Given the description of an element on the screen output the (x, y) to click on. 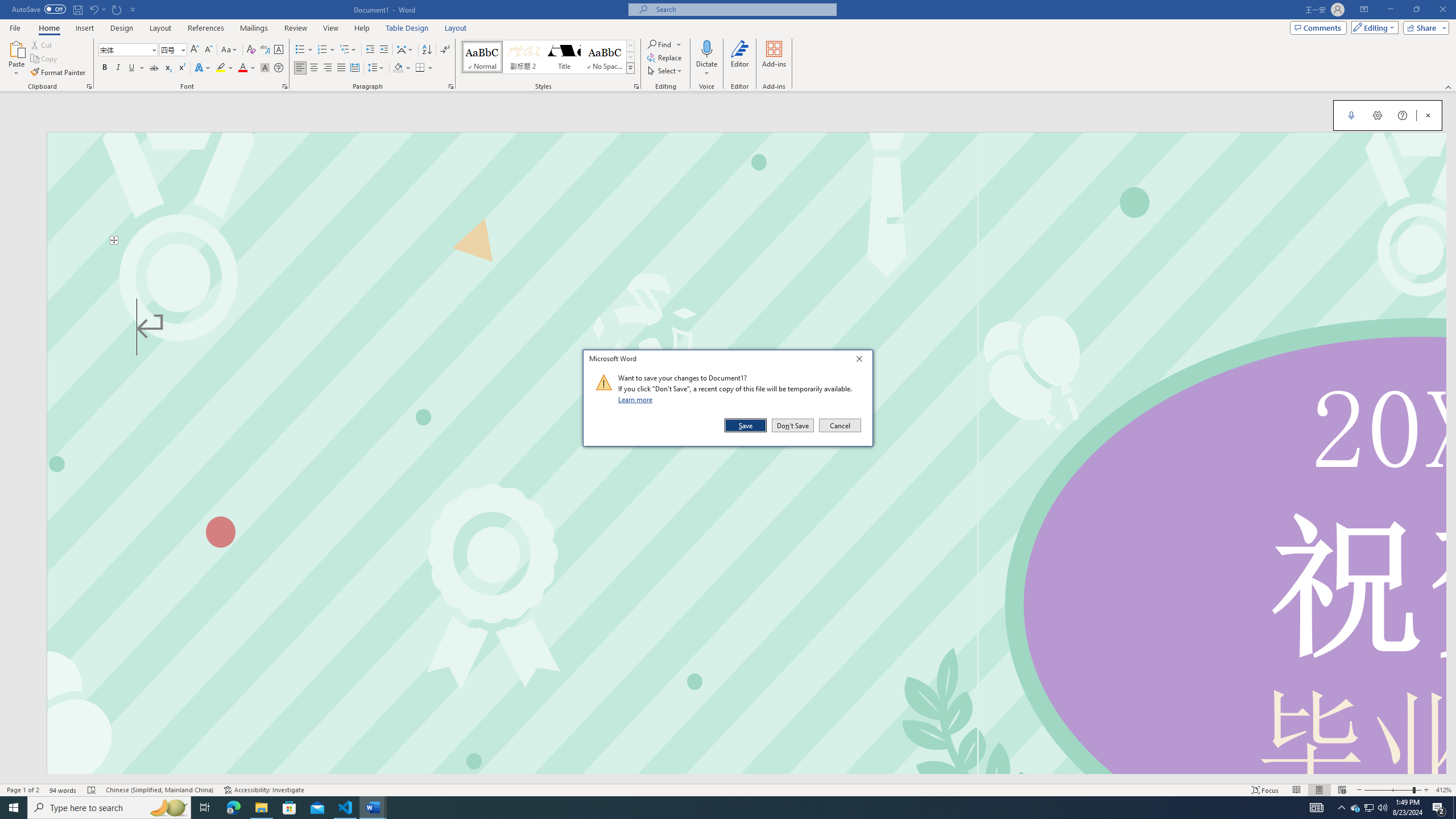
Undo Text Fill Effect (96, 9)
